Given the description of an element on the screen output the (x, y) to click on. 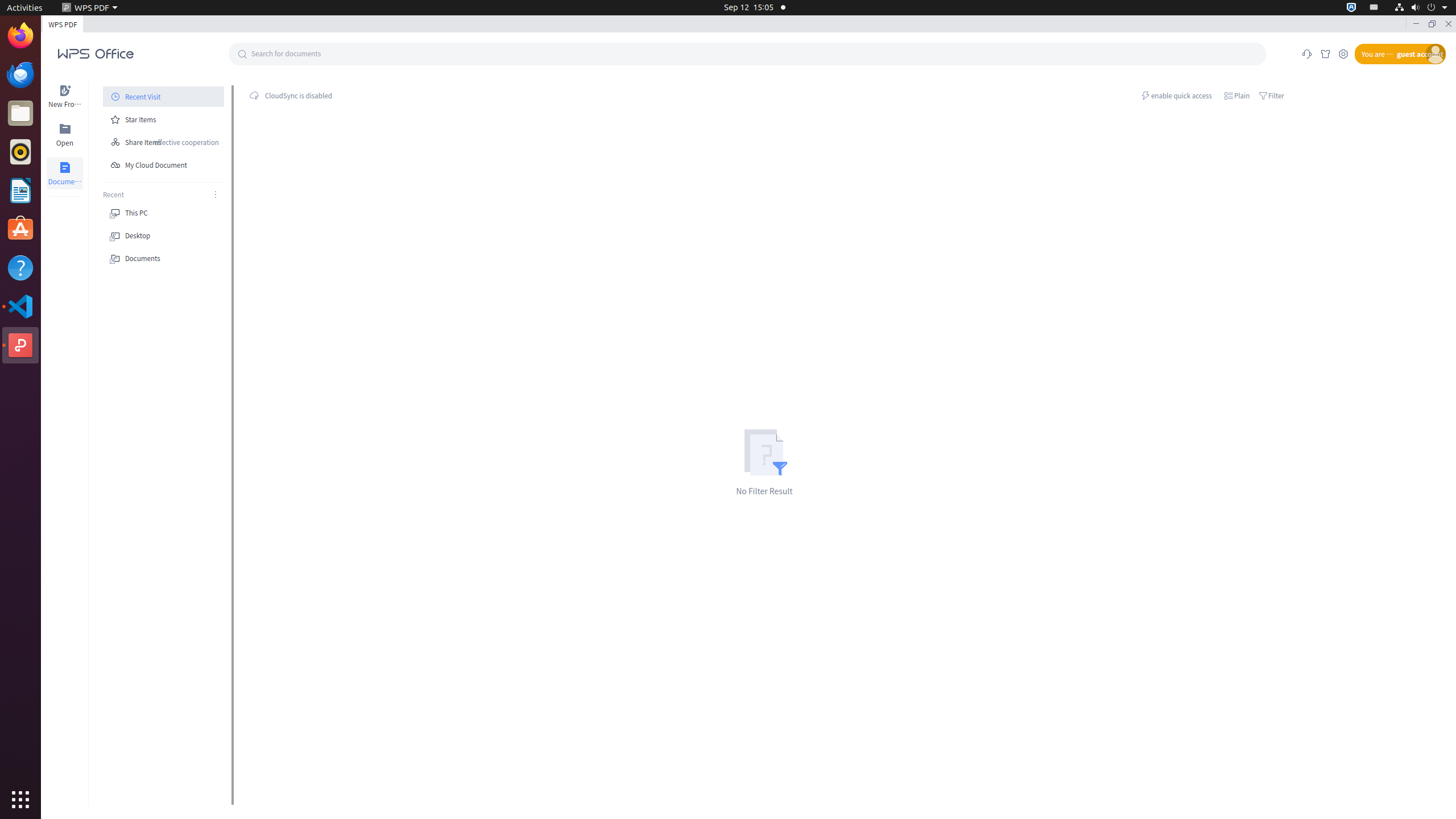
WPS PDF Element type: push-button (20, 344)
